Given the description of an element on the screen output the (x, y) to click on. 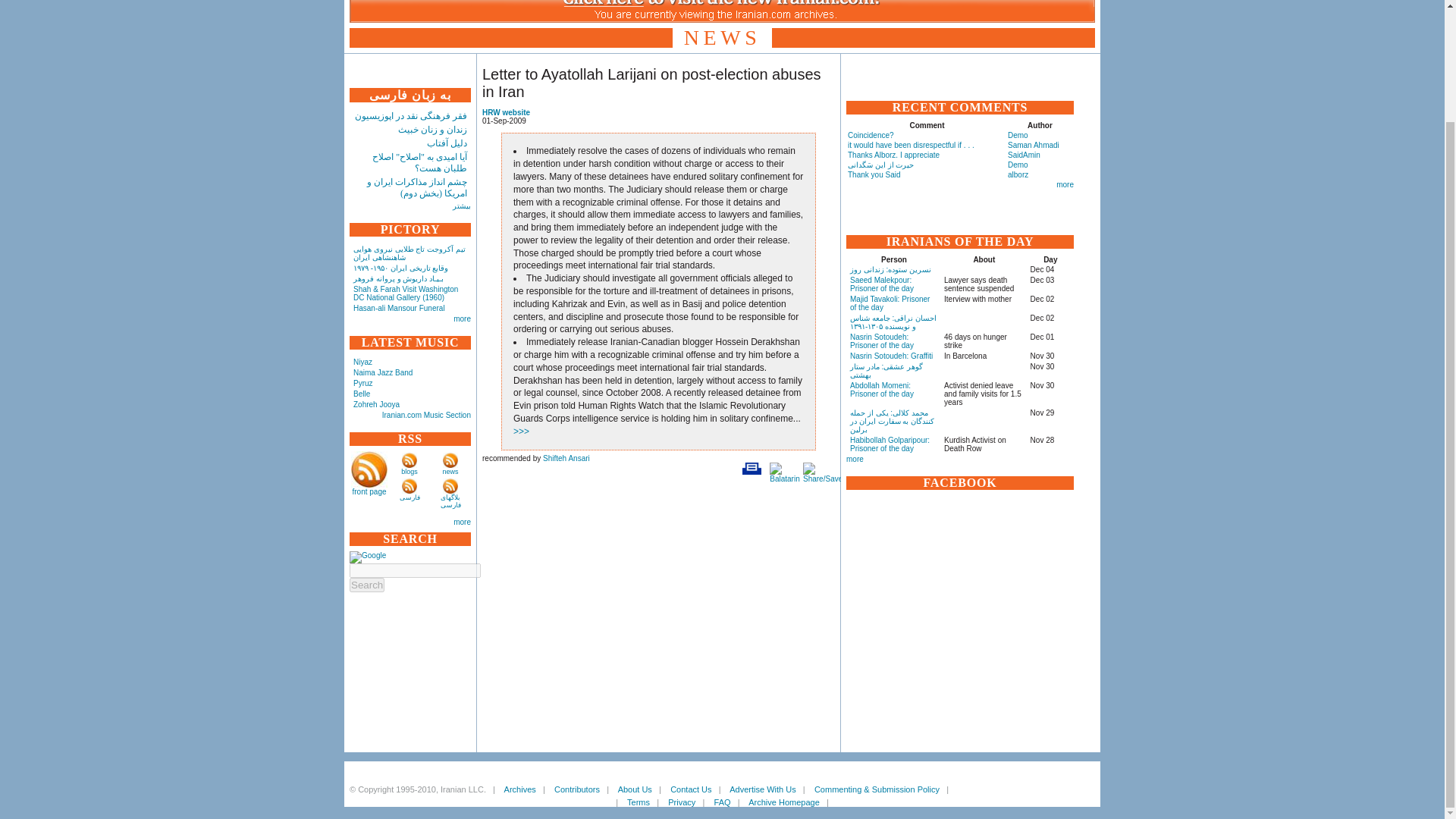
Pyruz (362, 383)
front page (368, 491)
Niyaz (362, 361)
Hasan-ali Mansour Funeral (399, 307)
more (461, 318)
View user profile. (566, 458)
Google (367, 557)
Belle (361, 393)
blogs (409, 471)
Naima Jazz Band (382, 372)
